Given the description of an element on the screen output the (x, y) to click on. 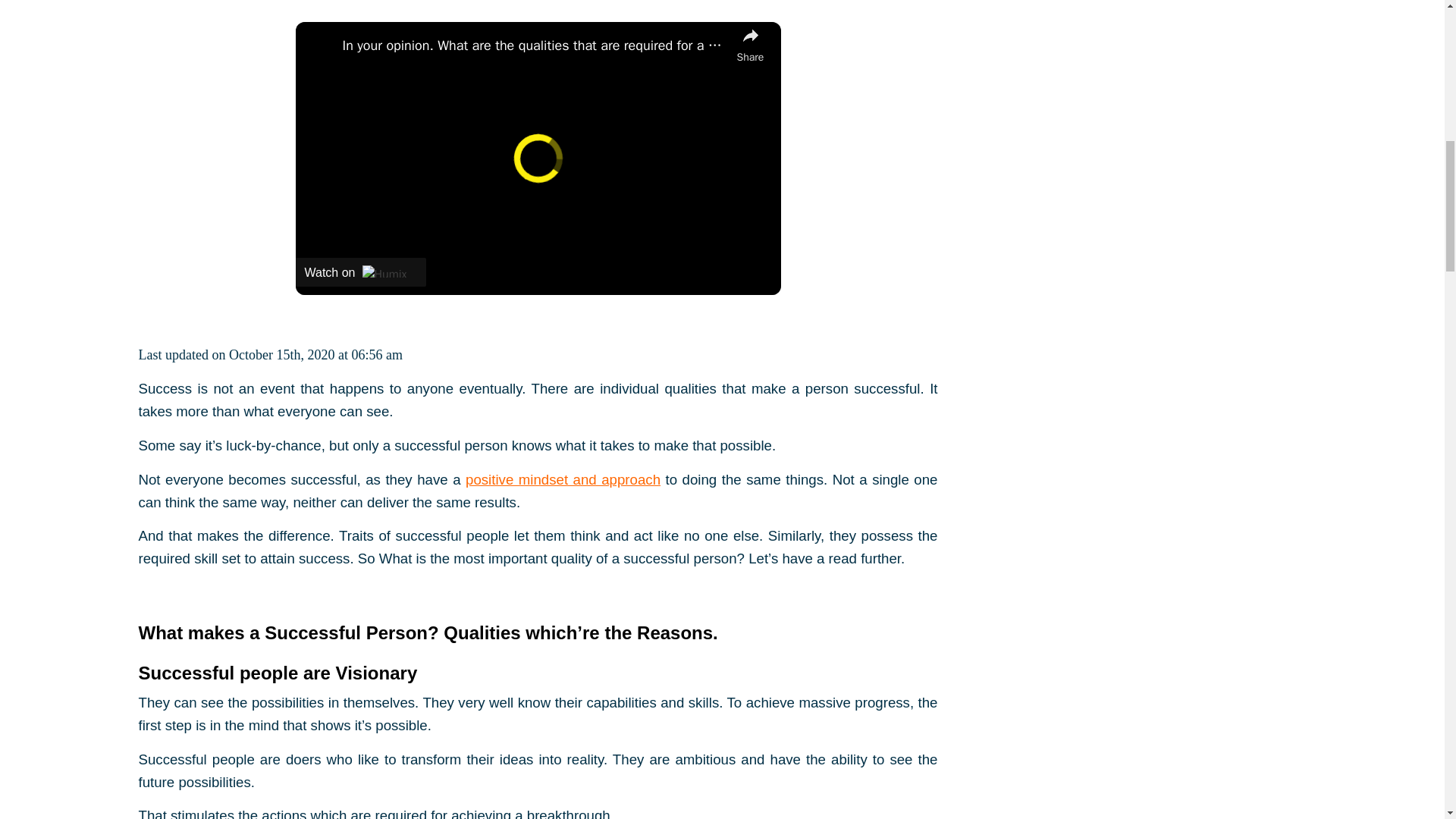
Watch on (360, 271)
positive mindset and approach (563, 479)
